Given the description of an element on the screen output the (x, y) to click on. 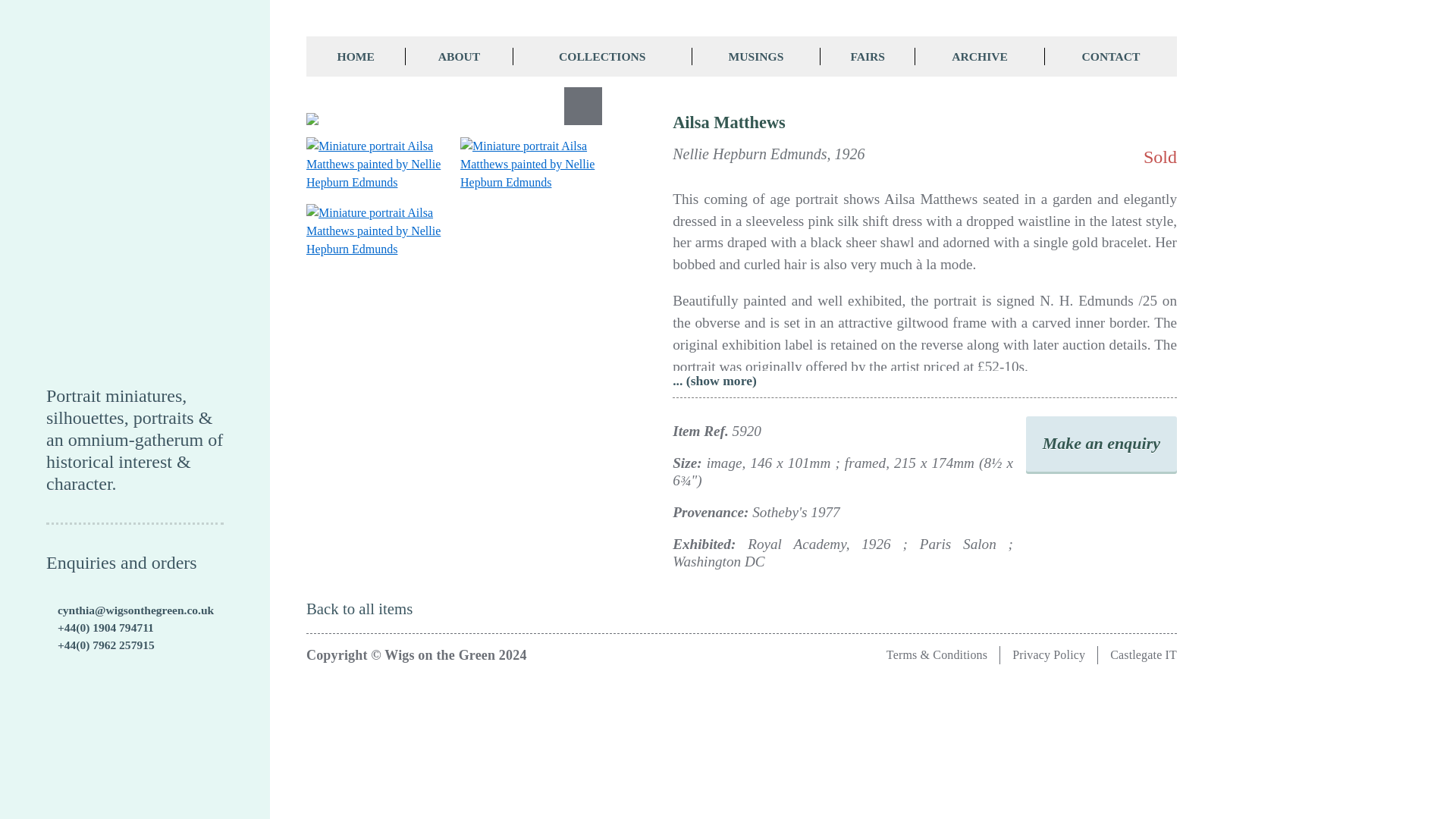
Castlegate IT (1142, 654)
Privacy Policy (1047, 654)
MUSINGS (757, 56)
Make an enquiry (1101, 444)
ABOUT (459, 56)
ARCHIVE (980, 56)
Ailsa Matthews (453, 119)
HOME (355, 56)
CONTACT (1110, 56)
FAIRS (868, 56)
